Given the description of an element on the screen output the (x, y) to click on. 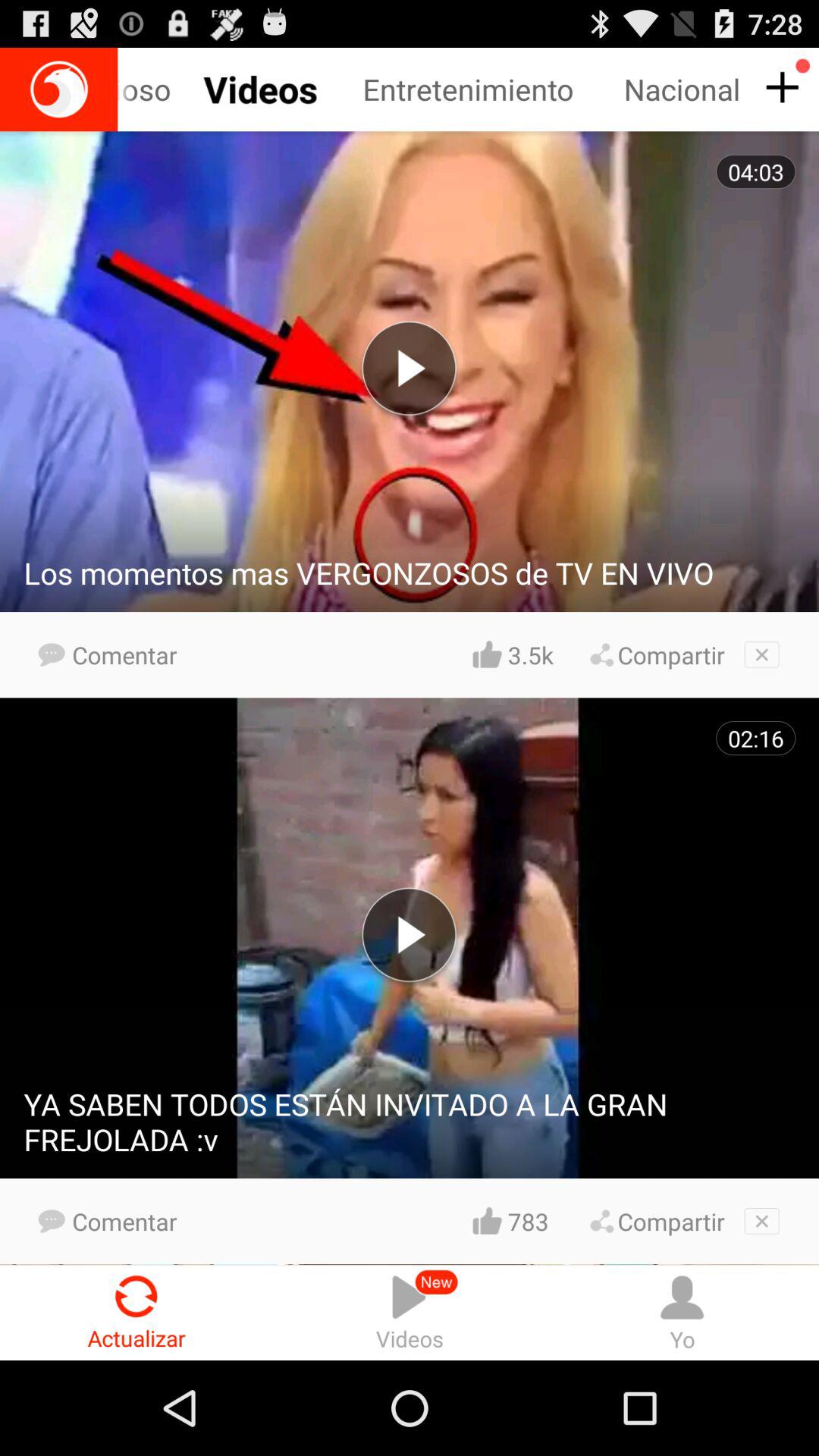
exit compartment (761, 1221)
